Given the description of an element on the screen output the (x, y) to click on. 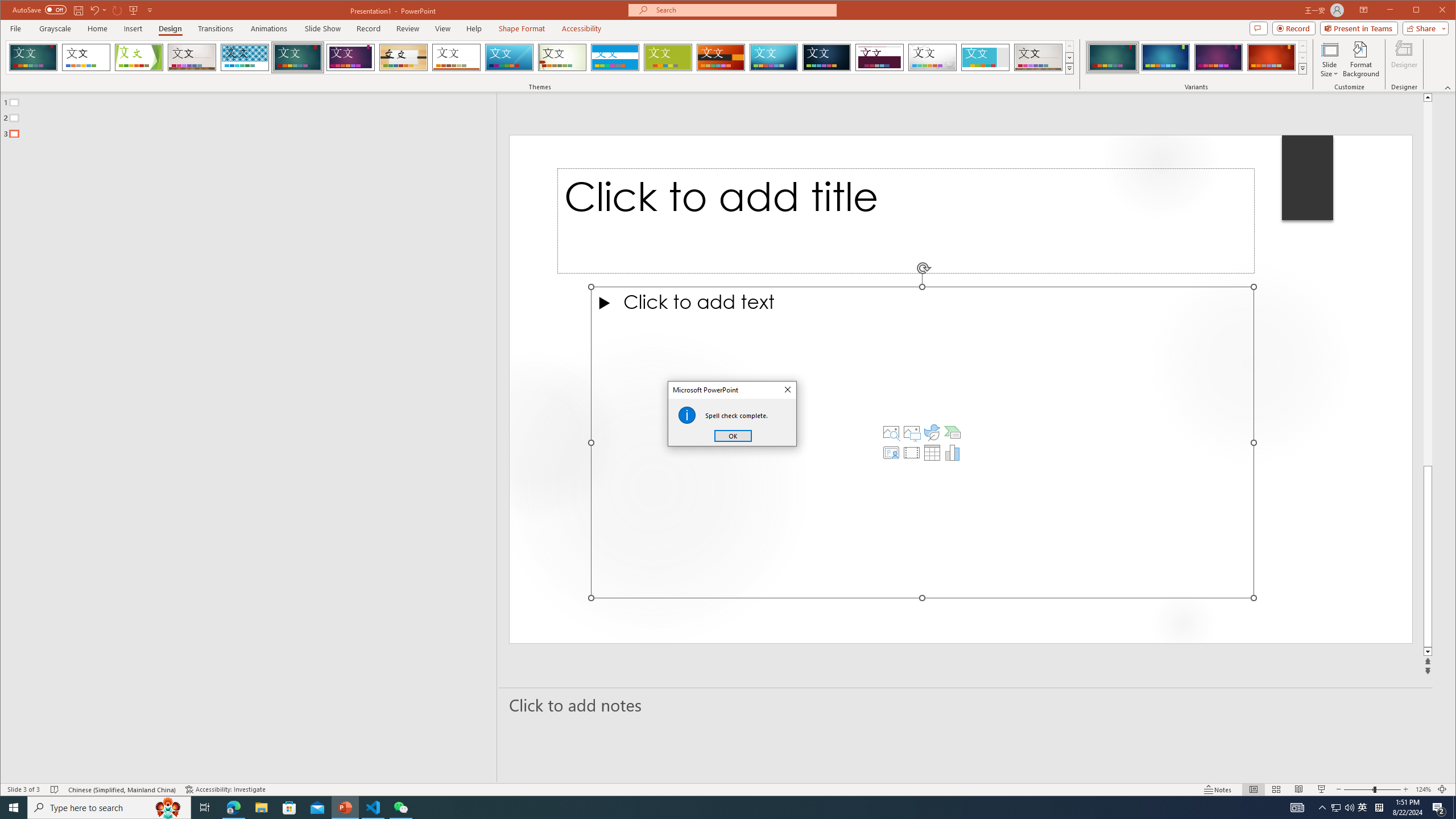
Droplet (932, 57)
Zoom 124% (1422, 789)
